Given the description of an element on the screen output the (x, y) to click on. 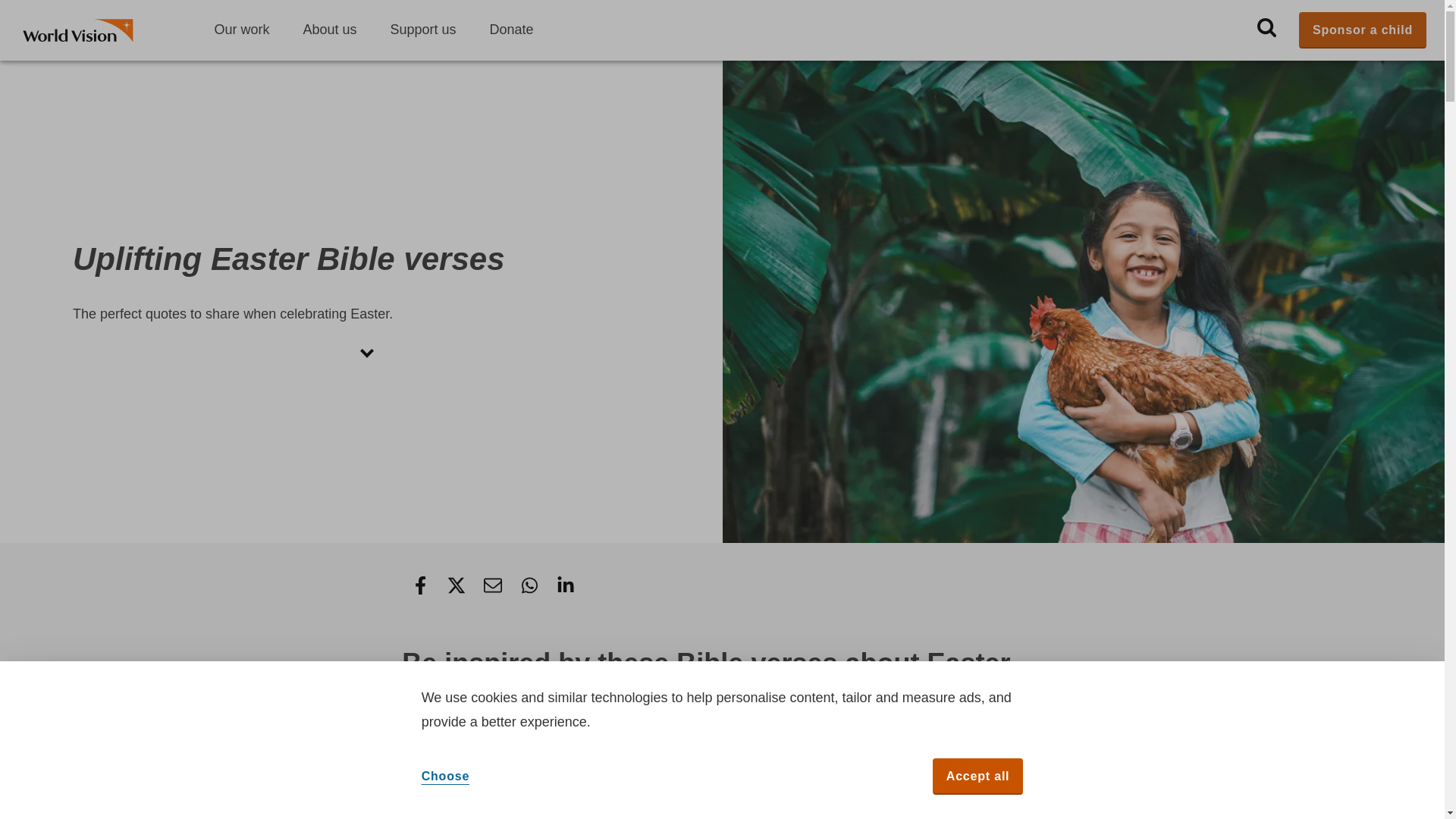
Our work (241, 30)
Support us (421, 30)
About us (329, 30)
